Given the description of an element on the screen output the (x, y) to click on. 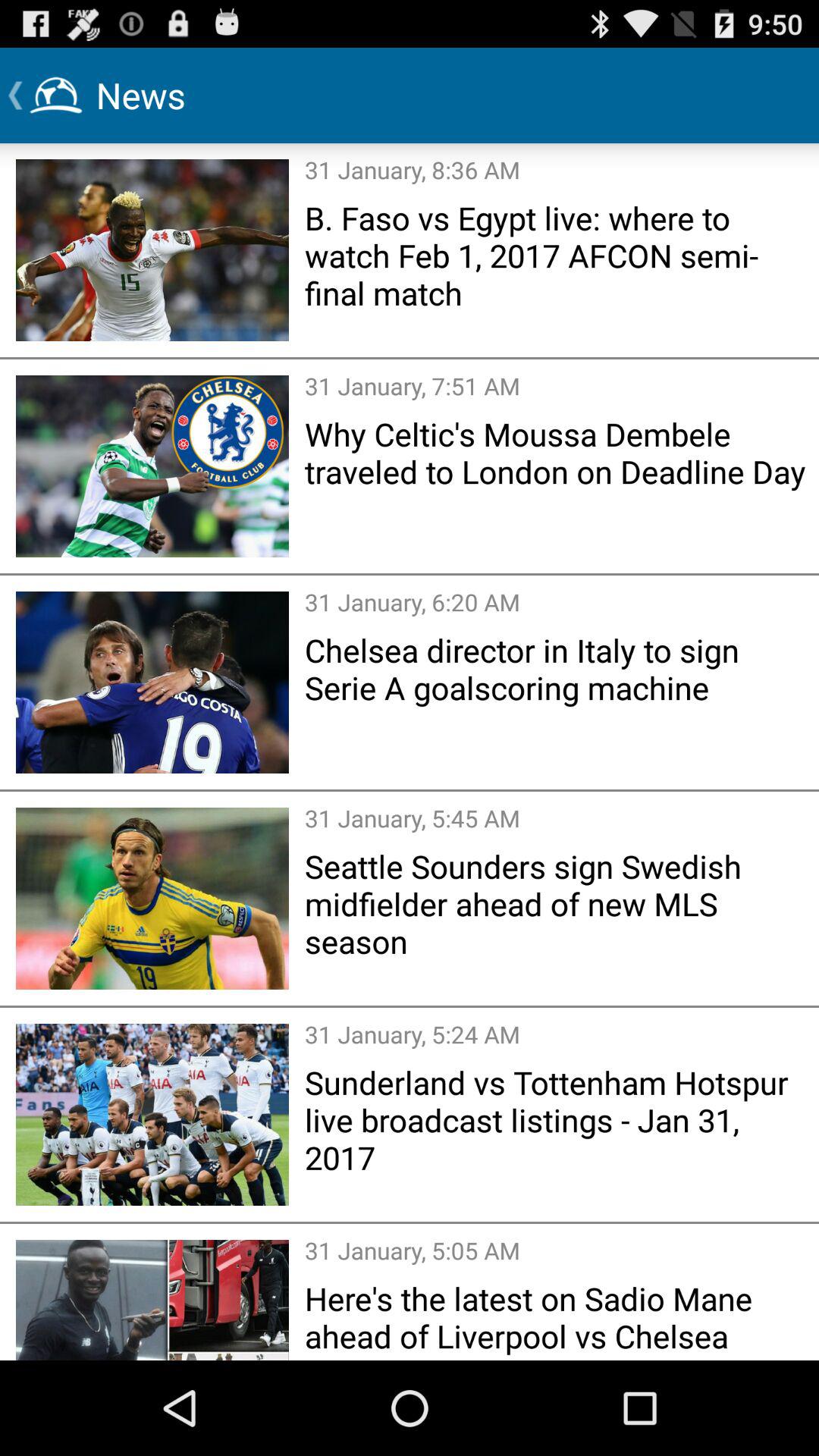
press item above the 31 january 6 item (556, 452)
